Given the description of an element on the screen output the (x, y) to click on. 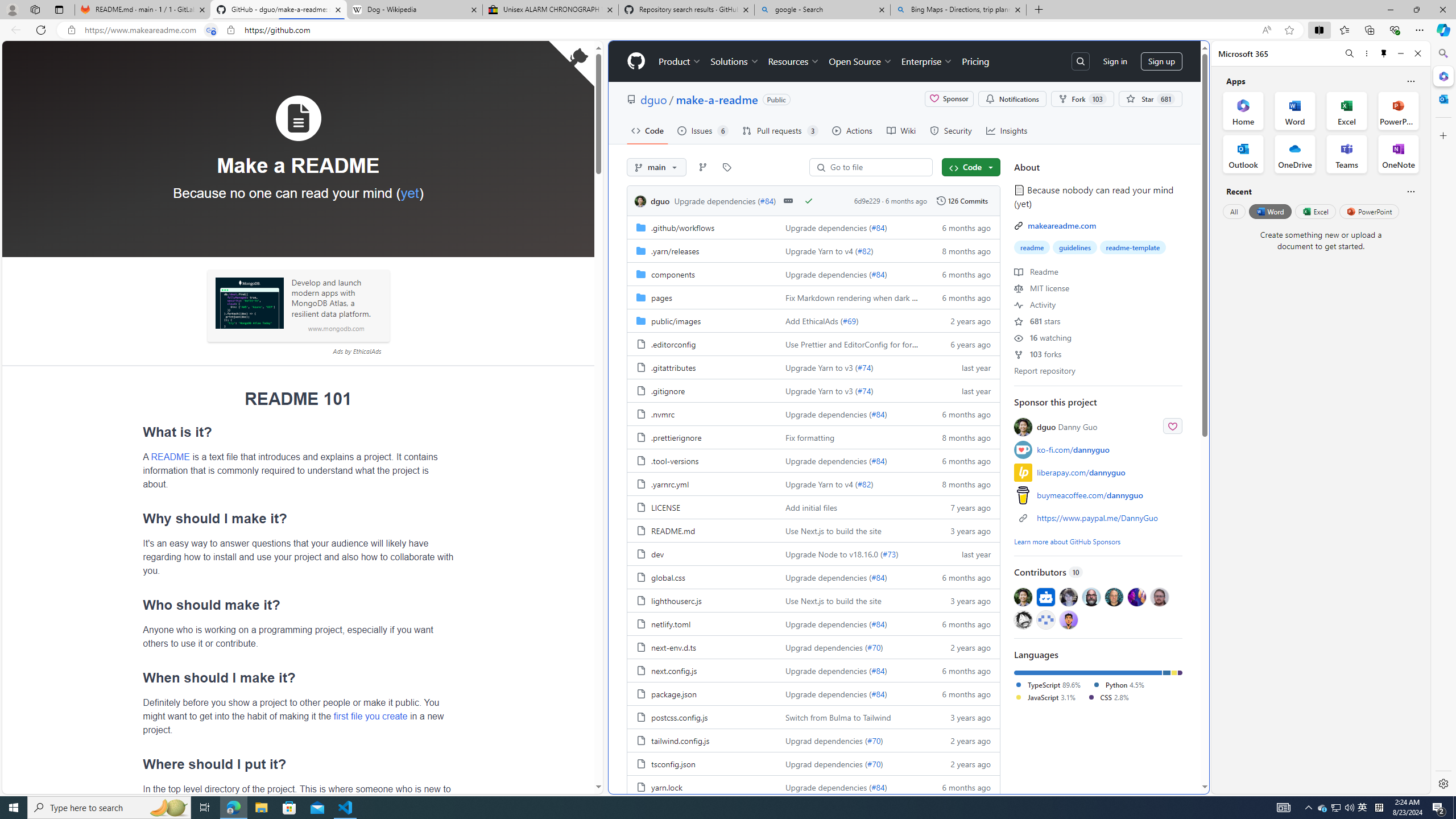
Go to Tags page (726, 167)
components, (Directory) (701, 273)
Upgrade Node to v18.16.0 ( (833, 553)
dguo Danny Guo (1097, 426)
AutomationID: folder-row-21 (813, 716)
Learn more about GitHub Sponsors (1067, 541)
ko-fi.com/dannyguo (1072, 449)
6 years ago (961, 343)
Solutions (735, 60)
Dog - Wikipedia (414, 9)
Pricing (975, 60)
